Given the description of an element on the screen output the (x, y) to click on. 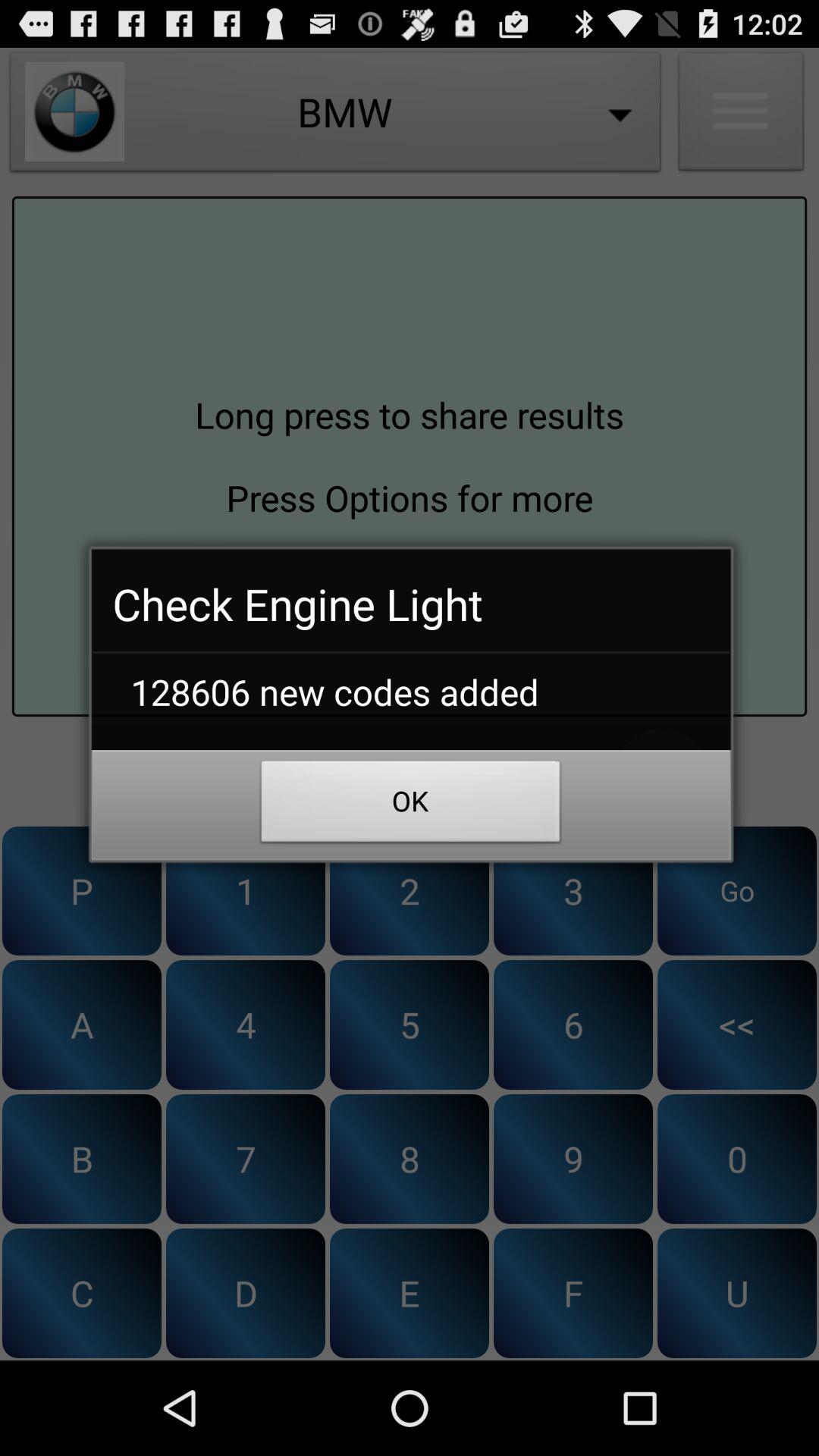
menu (741, 115)
